Given the description of an element on the screen output the (x, y) to click on. 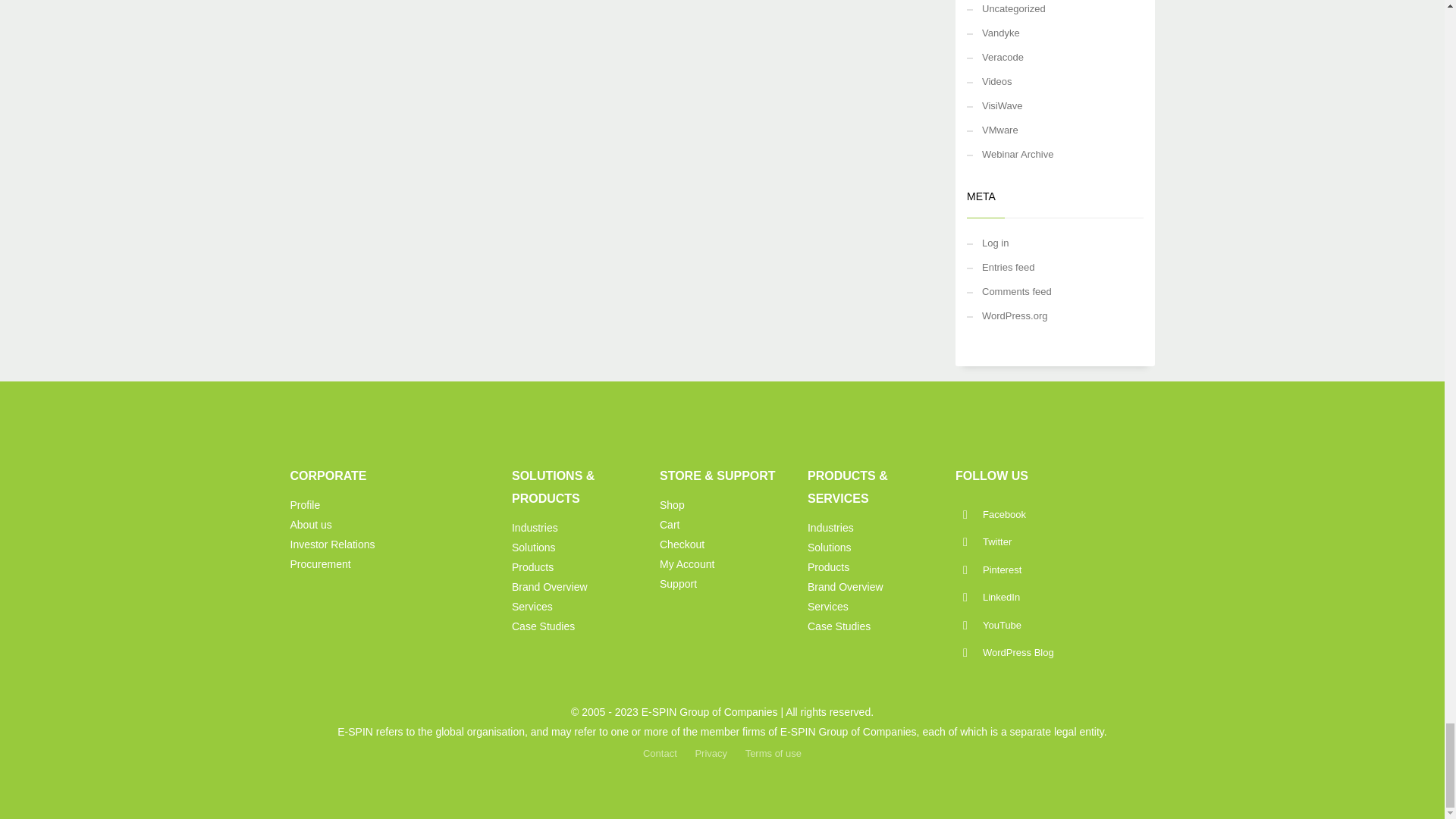
Contact Privacy Terms of use (351, 534)
